Given the description of an element on the screen output the (x, y) to click on. 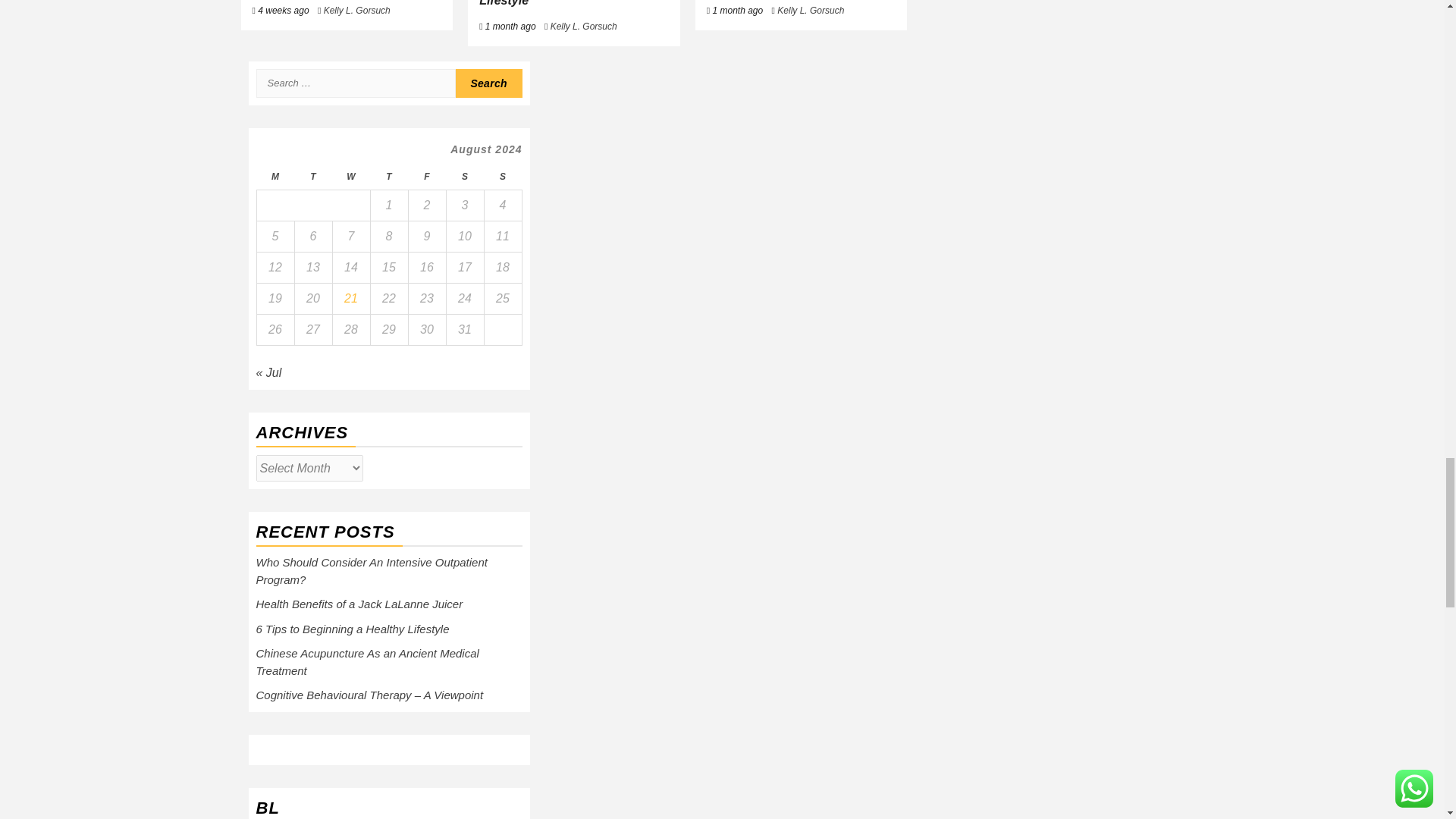
Sunday (502, 176)
Thursday (388, 176)
Monday (275, 176)
Kelly L. Gorsuch (356, 9)
Search (488, 82)
Wednesday (350, 176)
Tuesday (312, 176)
Saturday (464, 176)
Friday (426, 176)
Search (488, 82)
